Given the description of an element on the screen output the (x, y) to click on. 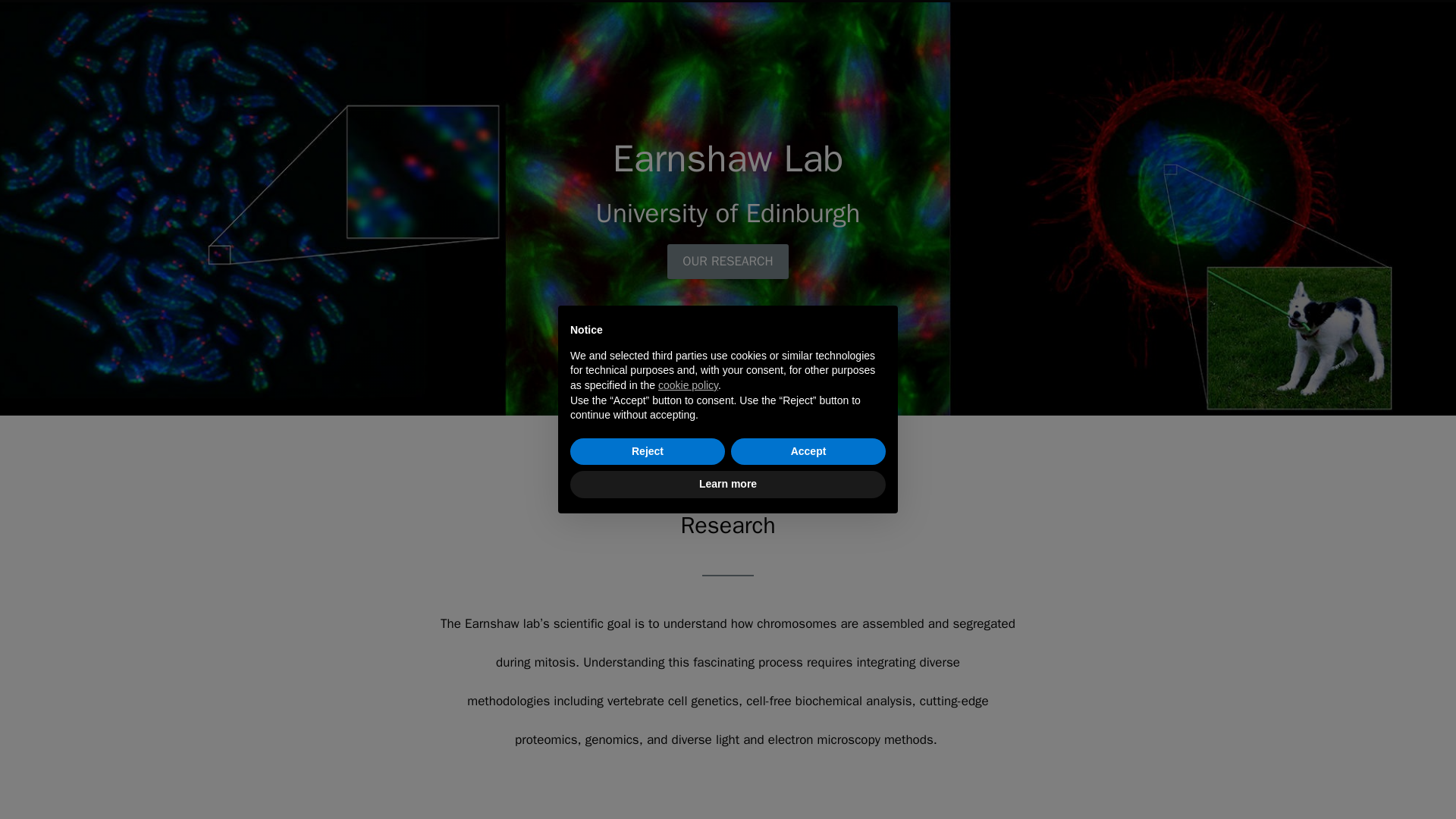
Projects (626, 1)
Home (447, 1)
Bill Earnshaw (534, 1)
Team (788, 1)
Publications (706, 1)
